Given the description of an element on the screen output the (x, y) to click on. 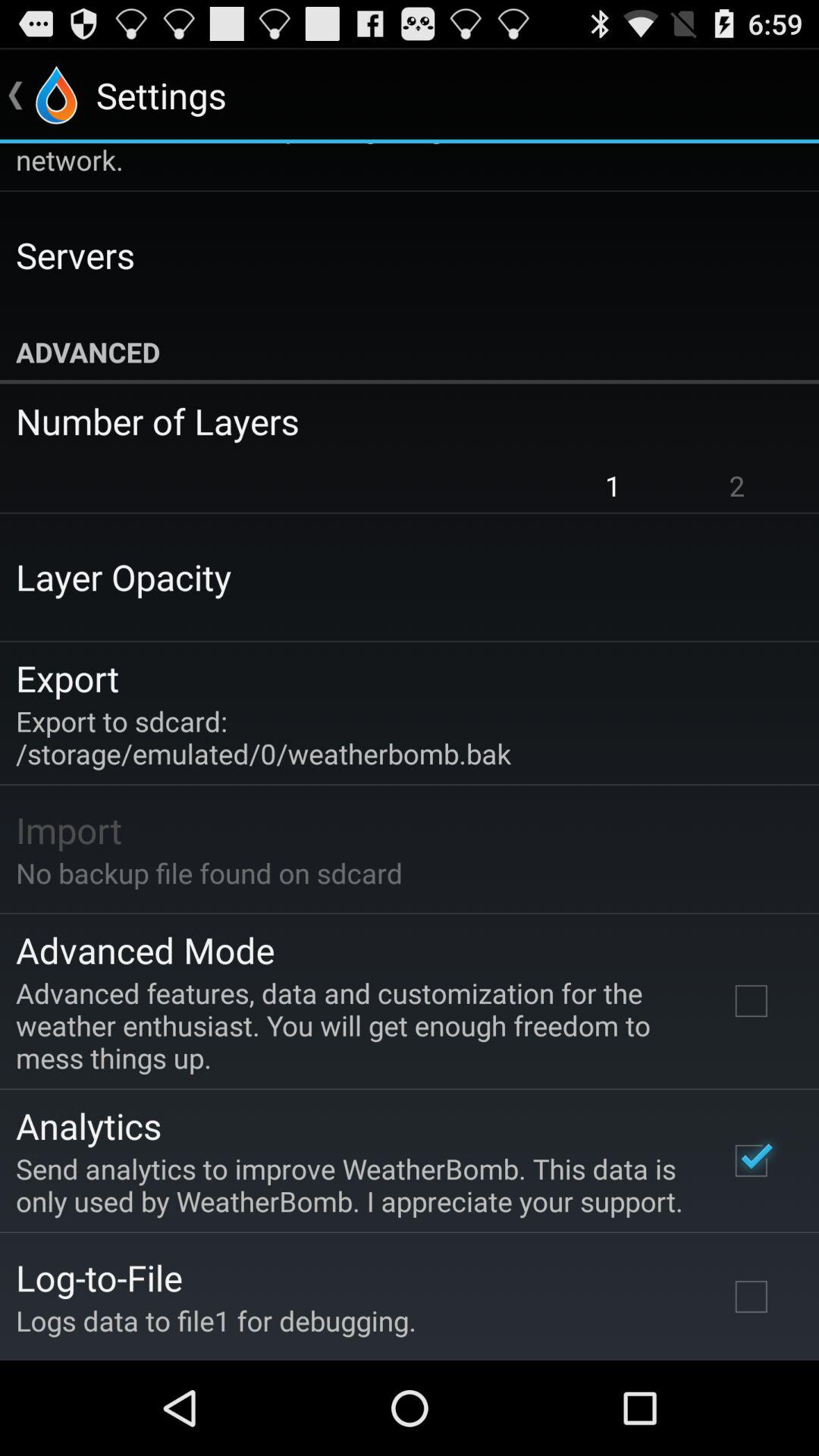
click app above the export app (123, 576)
